Given the description of an element on the screen output the (x, y) to click on. 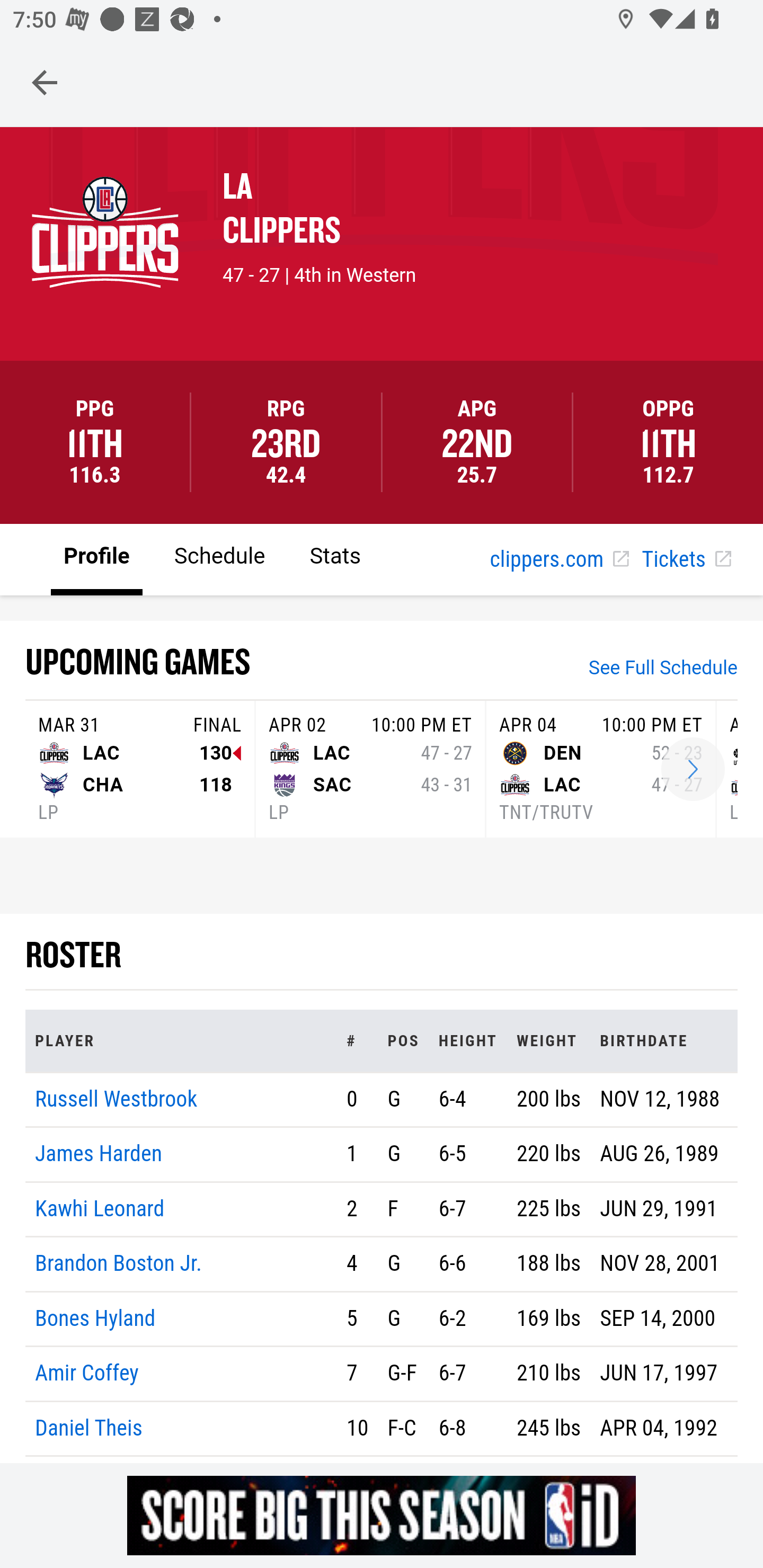
Navigate up (44, 82)
Profile (97, 558)
Schedule (219, 558)
Stats (335, 558)
clippers.com (559, 560)
Tickets (685, 560)
See Full Schedule (662, 669)
Match-up Scores (692, 769)
Russell Westbrook (116, 1098)
James Harden (98, 1154)
Kawhi Leonard (100, 1207)
Brandon Boston Jr. (119, 1264)
Bones Hyland (95, 1317)
Amir Coffey (87, 1374)
Daniel Theis (89, 1427)
g5nqqygr7owph (381, 1515)
